Given the description of an element on the screen output the (x, y) to click on. 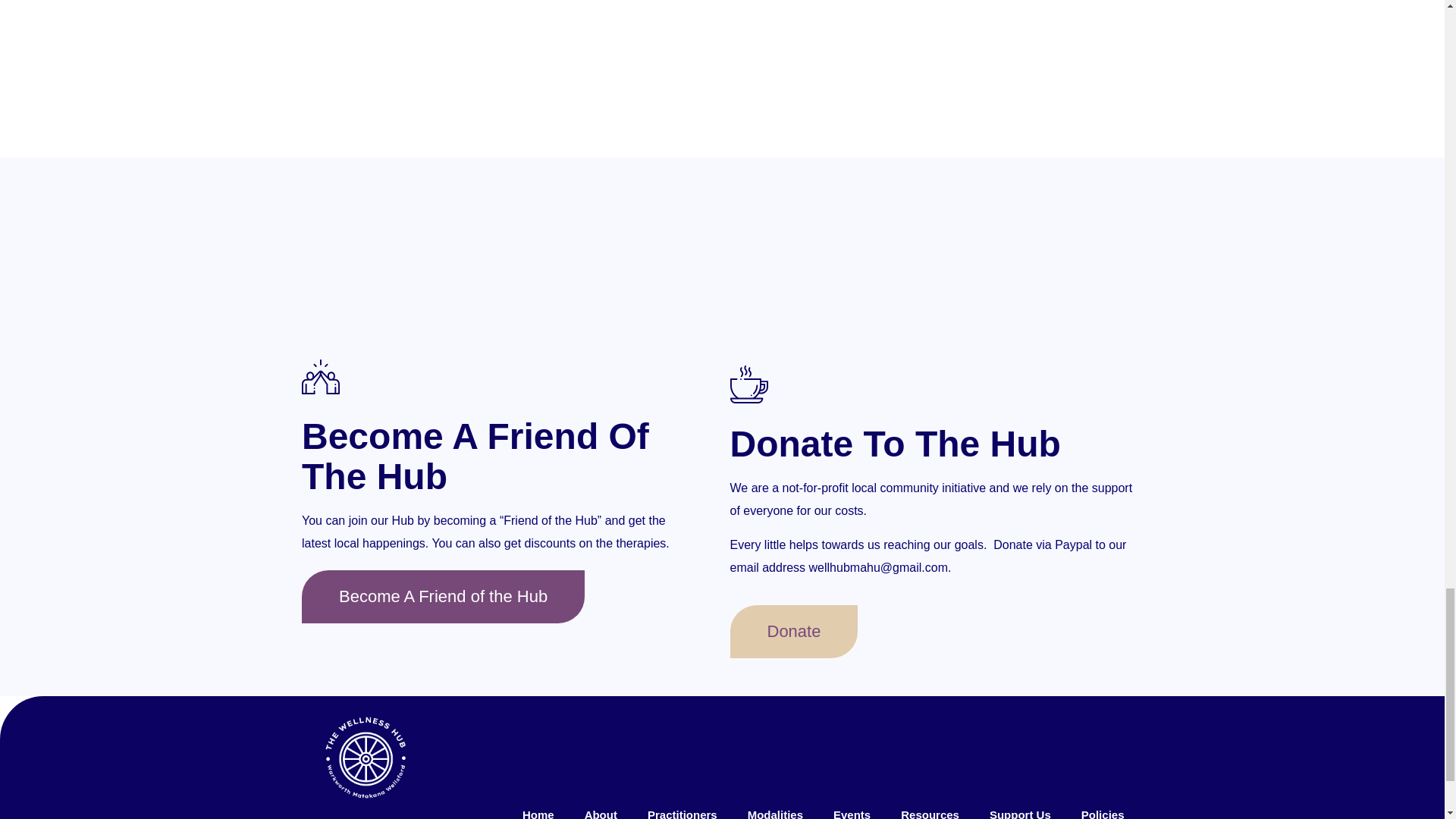
Home (537, 807)
Modalities (775, 807)
About (600, 807)
Donate (793, 631)
Practitioners (681, 807)
Become A Friend of the Hub (443, 596)
Events (851, 807)
Support Us (1019, 807)
Resources (929, 807)
